Given the description of an element on the screen output the (x, y) to click on. 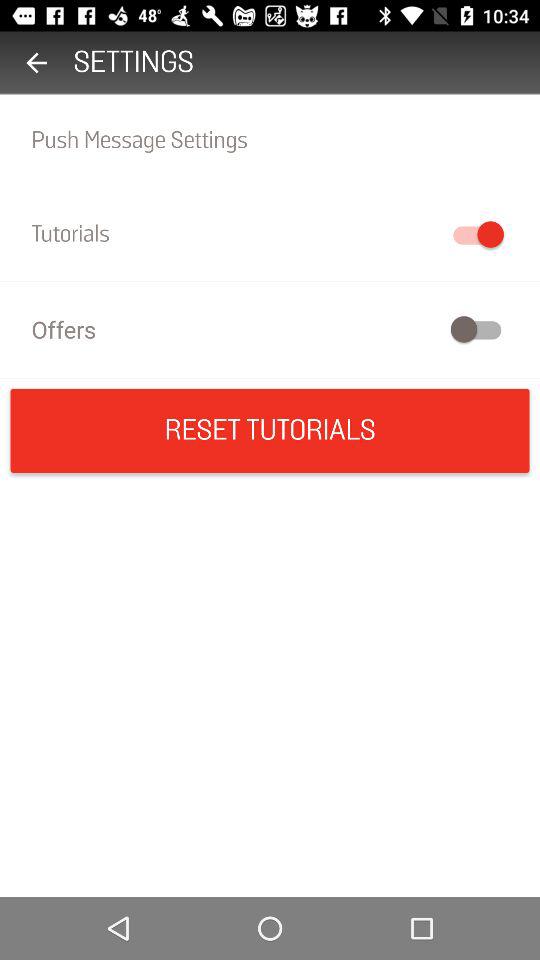
click the item above push message settings icon (36, 62)
